Given the description of an element on the screen output the (x, y) to click on. 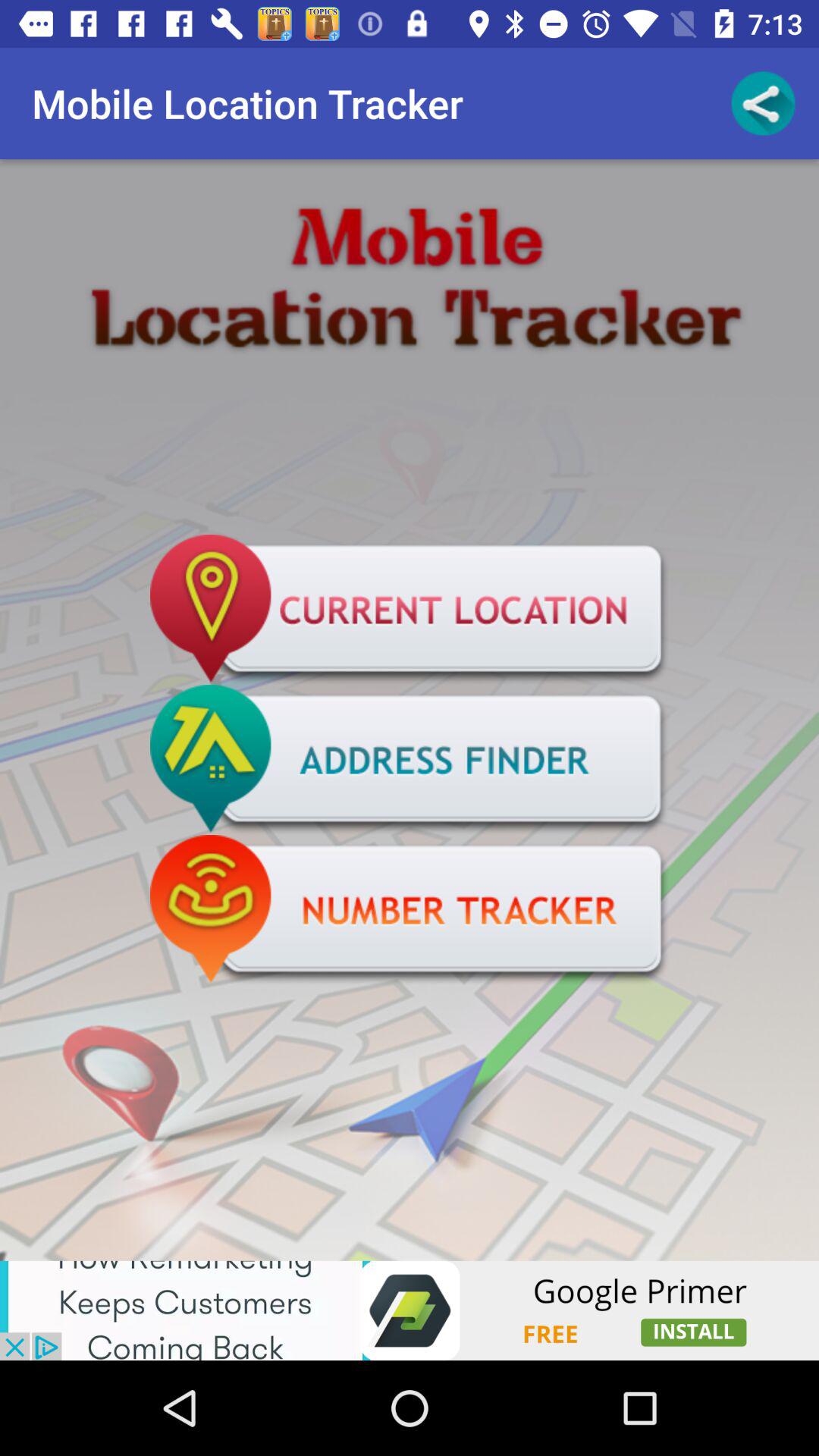
find current location (409, 609)
